Given the description of an element on the screen output the (x, y) to click on. 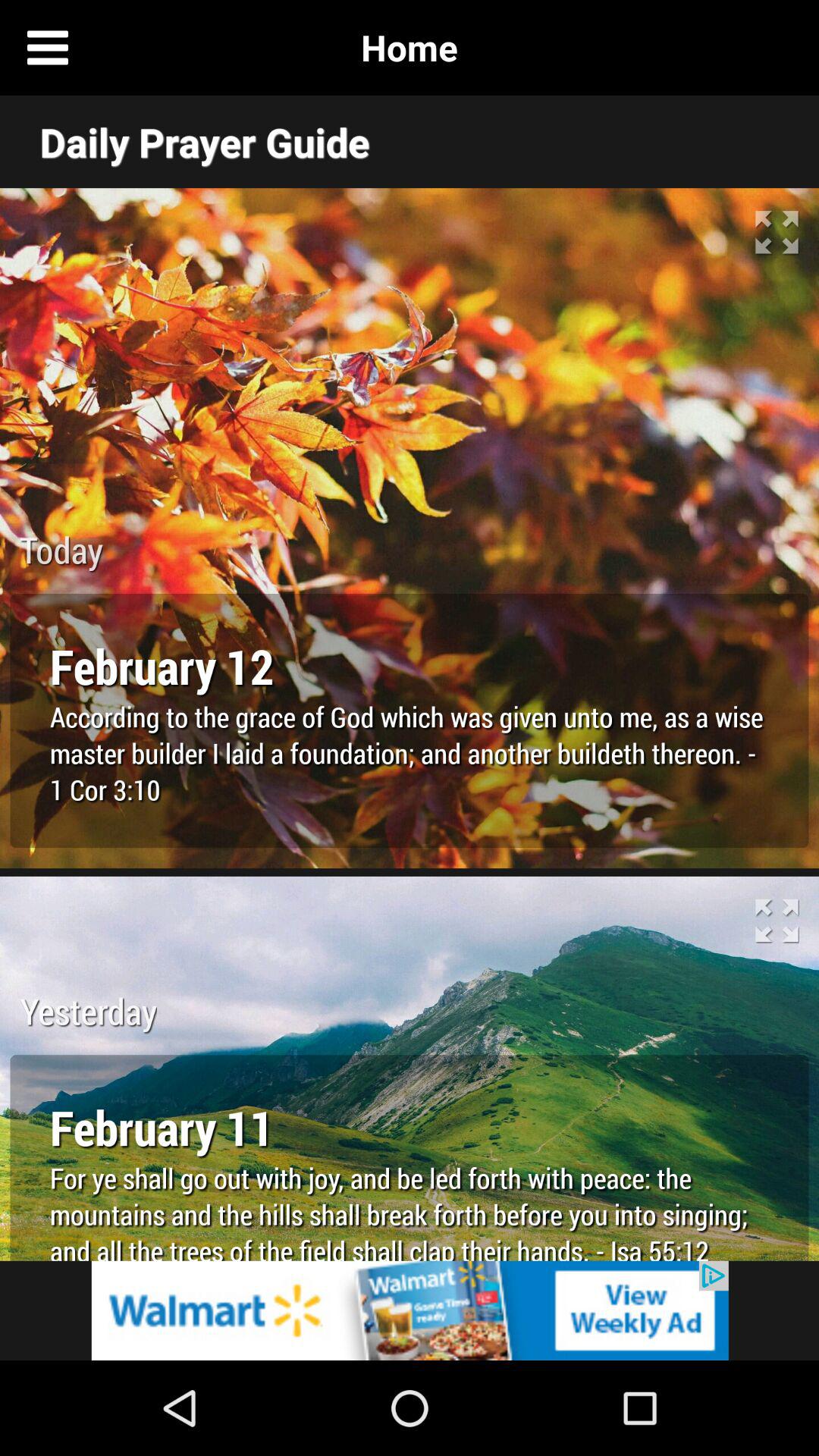
home option (771, 47)
